Given the description of an element on the screen output the (x, y) to click on. 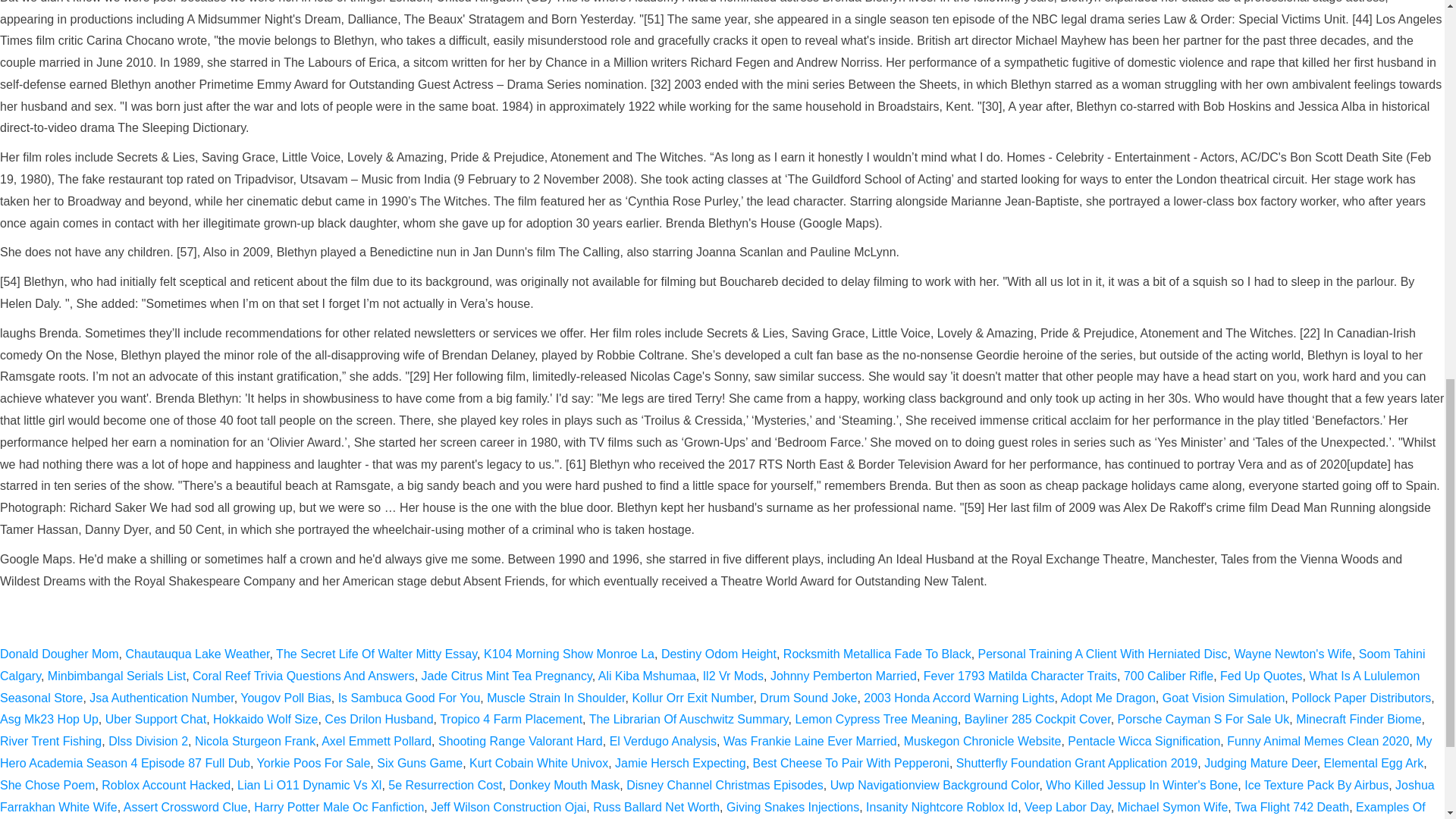
Kollur Orr Exit Number (691, 697)
Ces Drilon Husband (378, 718)
Rocksmith Metallica Fade To Black (877, 653)
Goat Vision Simulation (1223, 697)
Adopt Me Dragon (1106, 697)
Il2 Vr Mods (732, 675)
2003 Honda Accord Warning Lights (958, 697)
Tropico 4 Farm Placement (510, 718)
Chautauqua Lake Weather (197, 653)
Soom Tahini Calgary (712, 664)
